Given the description of an element on the screen output the (x, y) to click on. 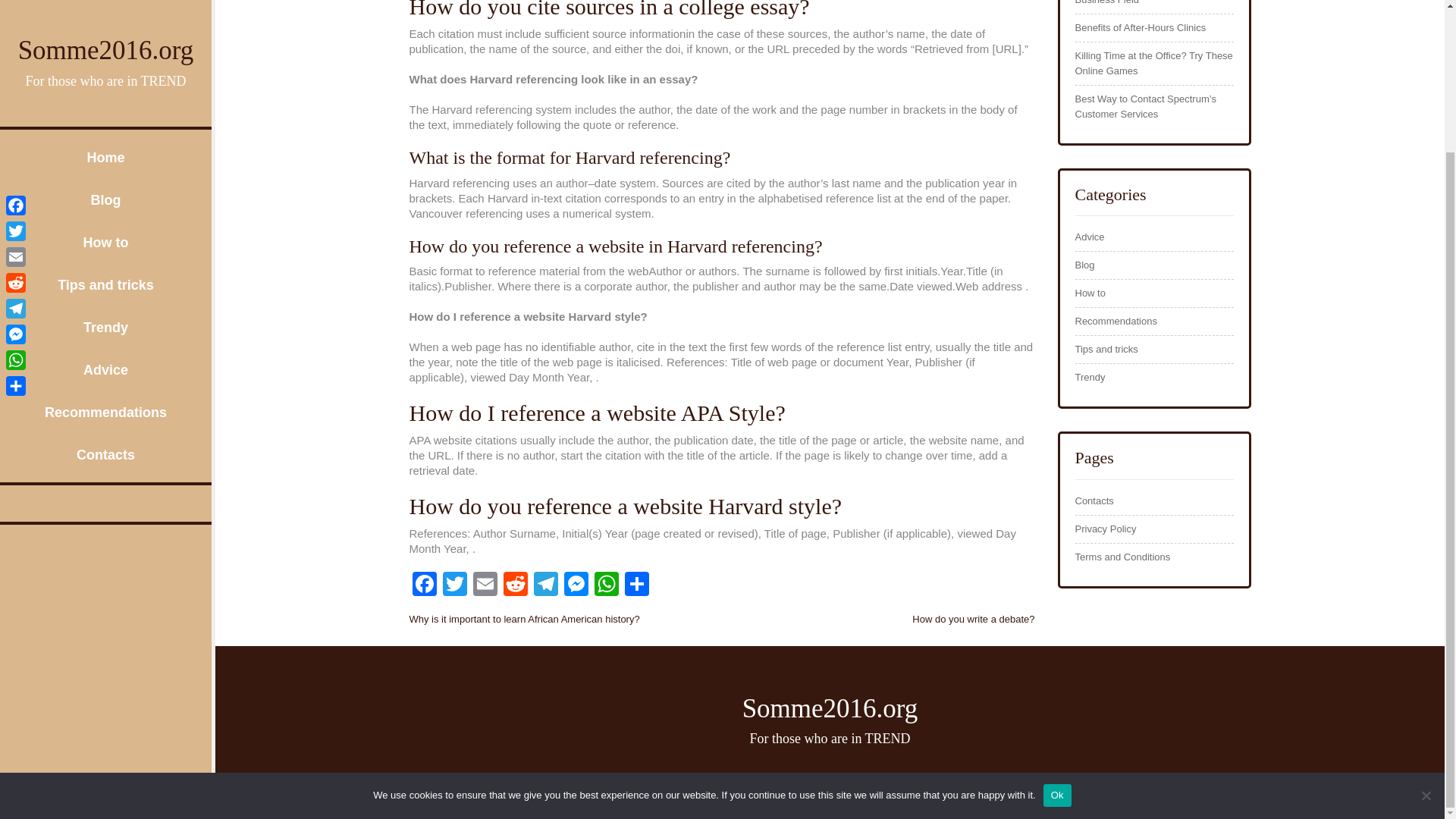
Terms and Conditions (1122, 557)
Reddit (515, 585)
WhatsApp (606, 585)
Telegram (15, 131)
Tips and tricks (1106, 349)
Email (485, 585)
WhatsApp (606, 585)
Email (485, 585)
Facebook (424, 585)
Tips and tricks (105, 107)
Recommendations (105, 235)
Contacts (105, 278)
Home (105, 1)
Killing Time at the Office? Try These Online Games (1154, 63)
